Given the description of an element on the screen output the (x, y) to click on. 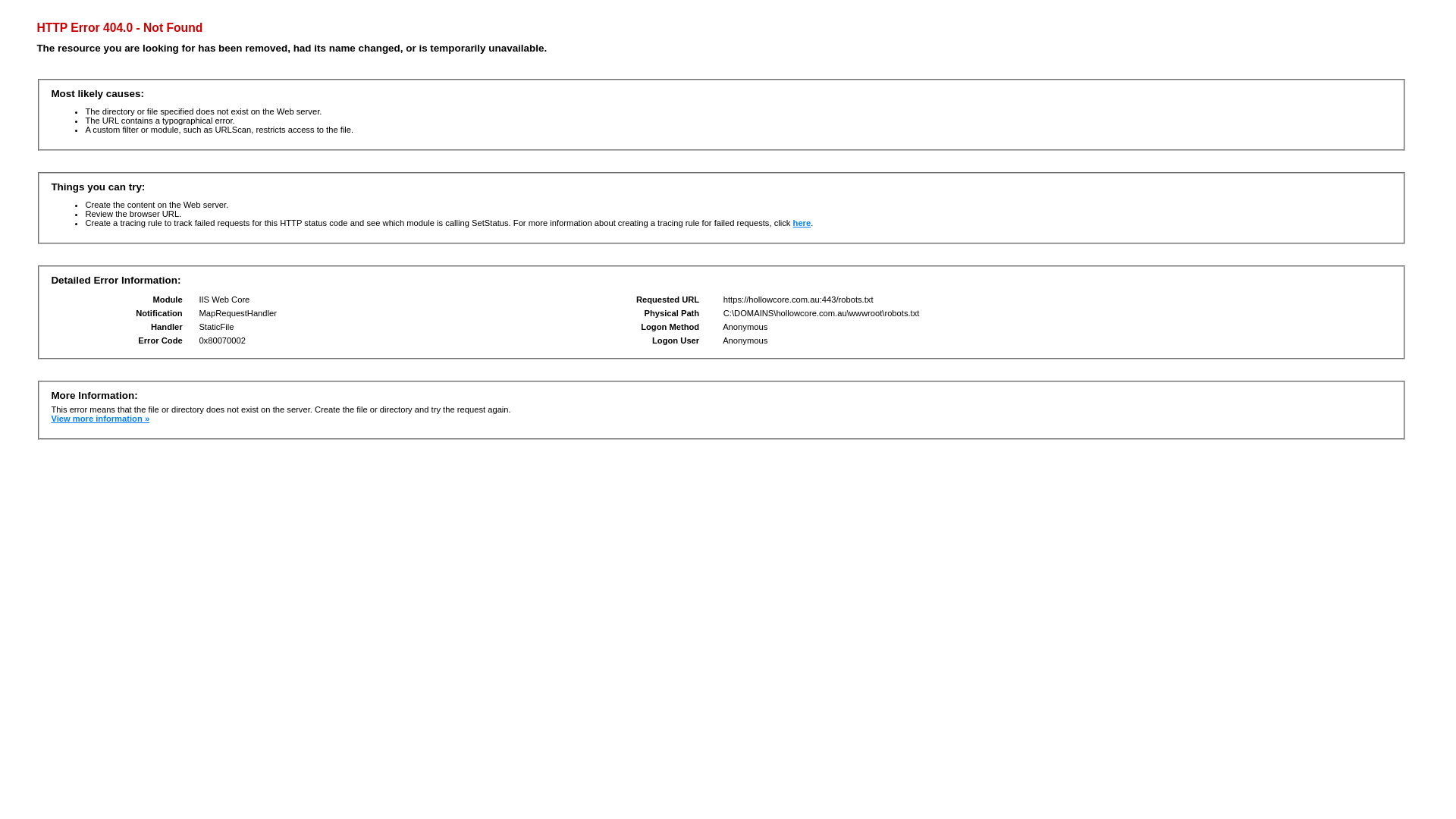
here Element type: text (802, 222)
